Given the description of an element on the screen output the (x, y) to click on. 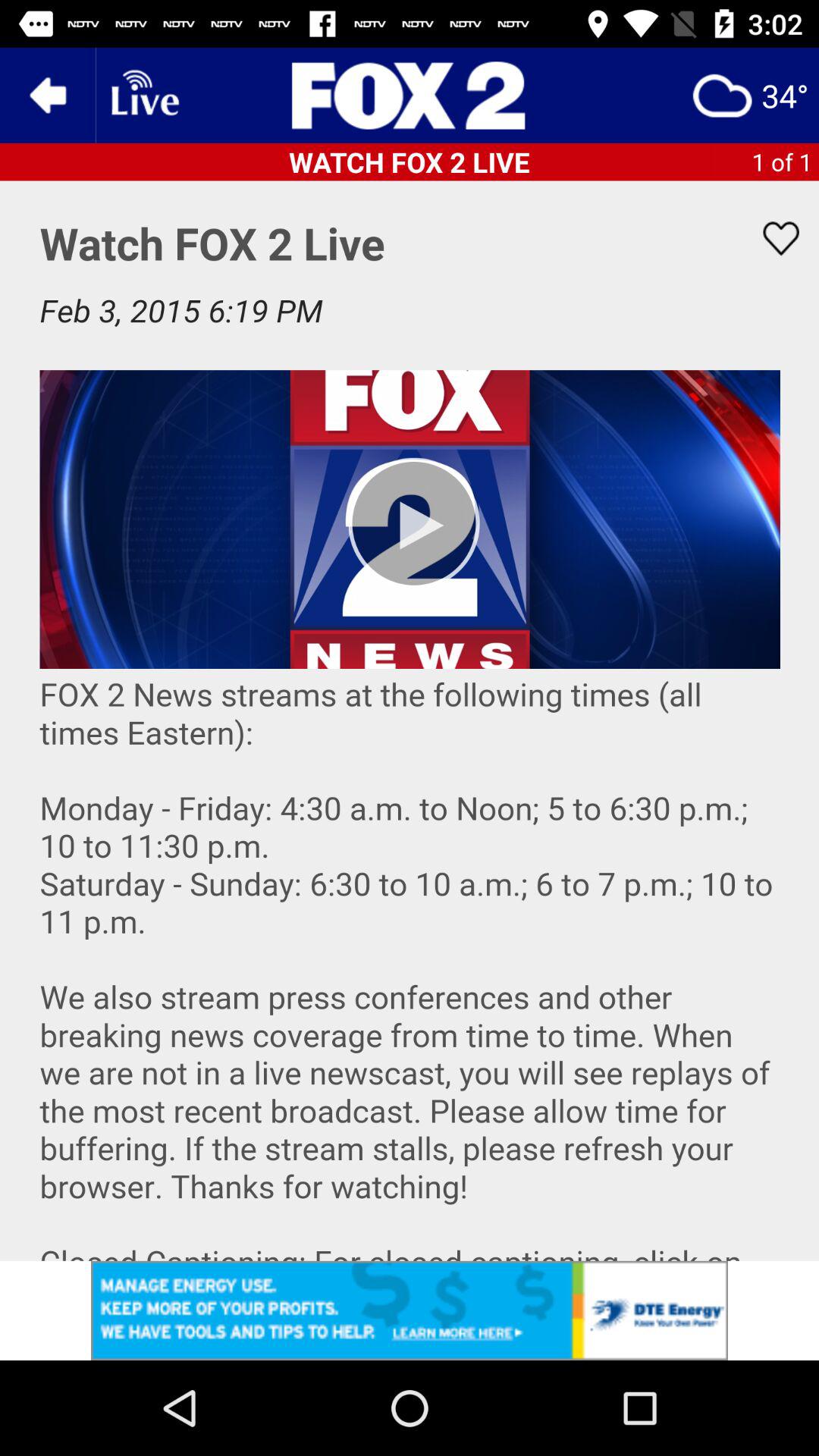
advertisement (409, 95)
